Given the description of an element on the screen output the (x, y) to click on. 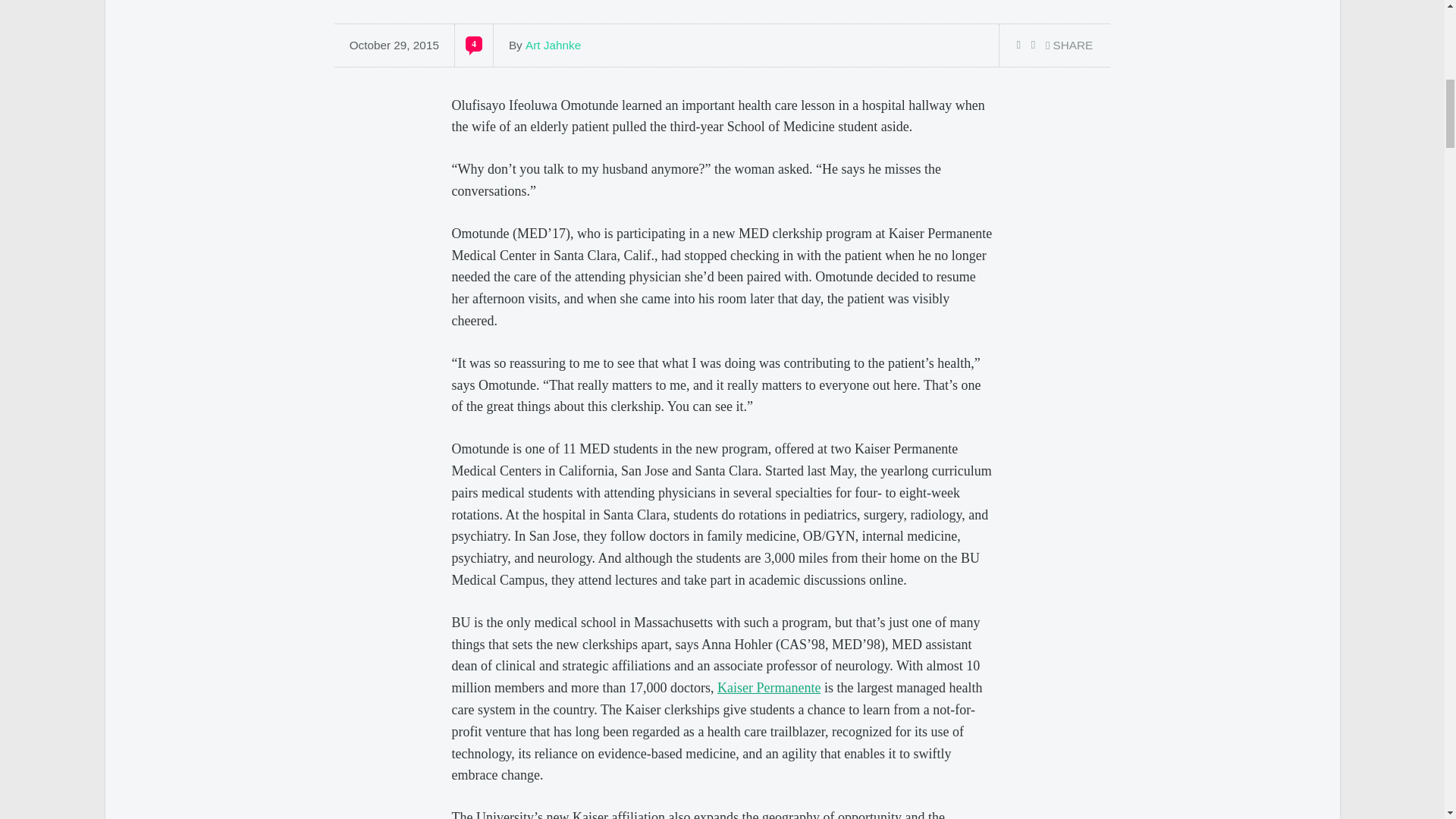
Kaiser Permanente (769, 687)
Art Jahnke (552, 44)
4 (473, 43)
